Given the description of an element on the screen output the (x, y) to click on. 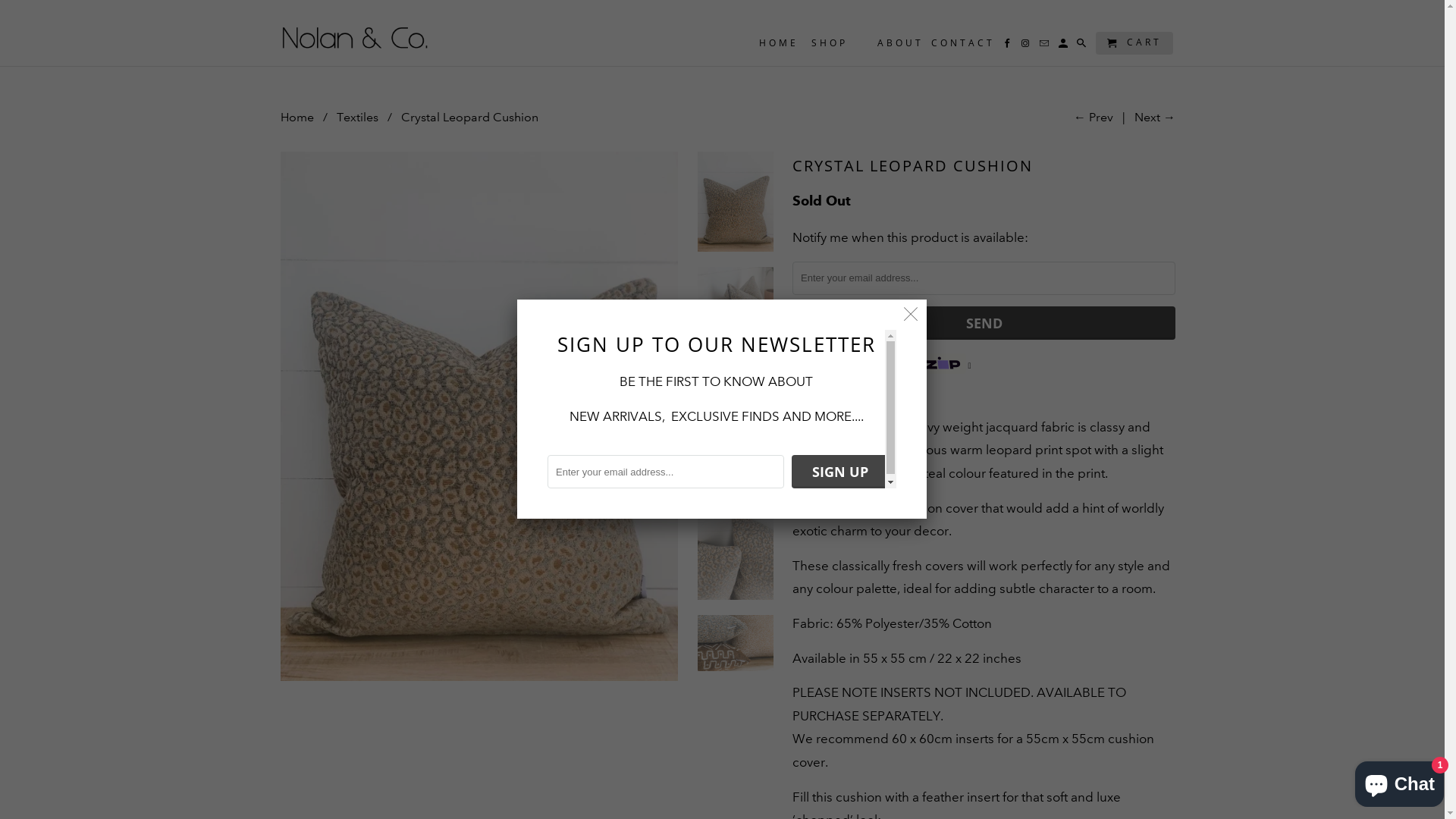
Nolan & Co Element type: hover (354, 30)
Close Element type: hover (910, 314)
Nolan & Co on Instagram Element type: hover (1026, 45)
Email Nolan & Co Element type: hover (1045, 45)
Textiles Element type: text (357, 116)
Shopify online store chat Element type: hover (1399, 780)
Sign Up Element type: text (839, 471)
Home Element type: text (296, 116)
My Account  Element type: hover (1064, 45)
CONTACT Element type: text (962, 45)
Nolan & Co on Facebook Element type: hover (1007, 45)
HOME Element type: text (778, 45)
Crystal Leopard Cushion Element type: hover (478, 416)
Search Element type: hover (1082, 45)
Send Element type: text (983, 322)
ABOUT Element type: text (900, 45)
CART Element type: text (1134, 42)
